Given the description of an element on the screen output the (x, y) to click on. 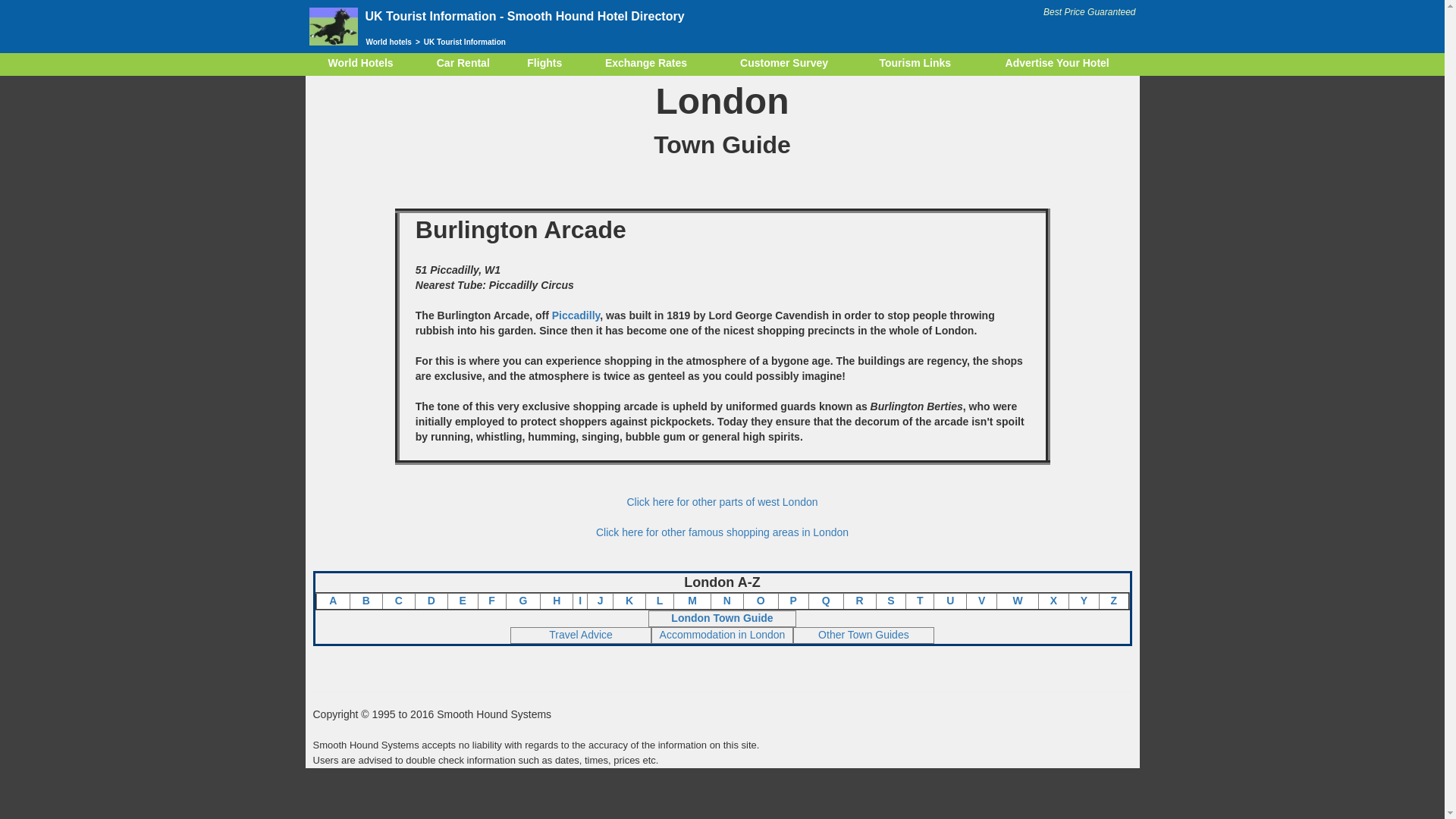
Exchange Rates (646, 64)
Click here for other parts of west London (721, 501)
World Hotels (359, 64)
Flights (545, 64)
Tourism Links (915, 64)
Click here for other famous shopping areas in London (721, 532)
Piccadilly (575, 315)
Car Rental (463, 64)
Customer Survey (783, 64)
Advertise Your Hotel (1057, 64)
World hotels (389, 41)
